Given the description of an element on the screen output the (x, y) to click on. 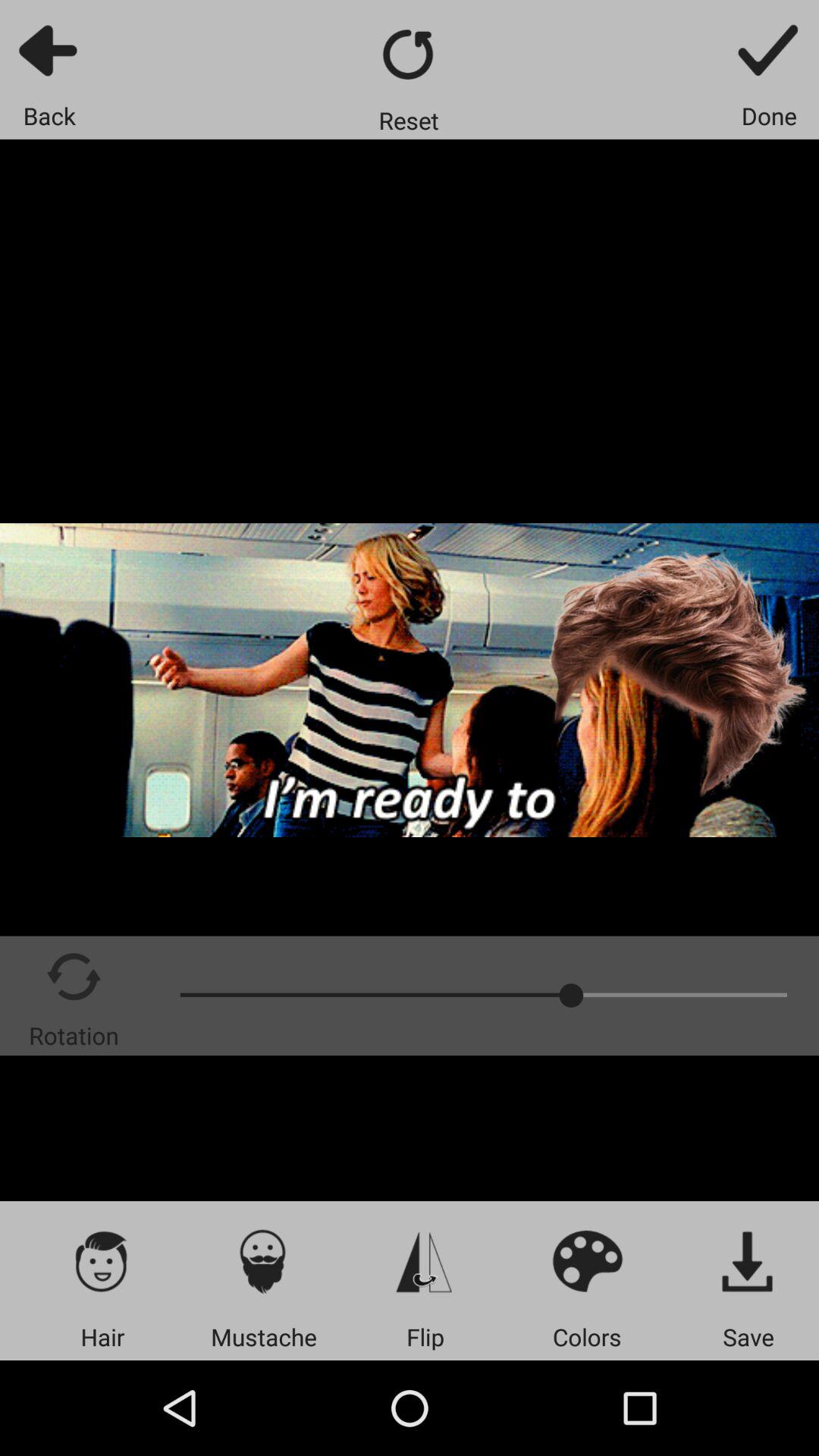
download the movie (748, 1260)
